Given the description of an element on the screen output the (x, y) to click on. 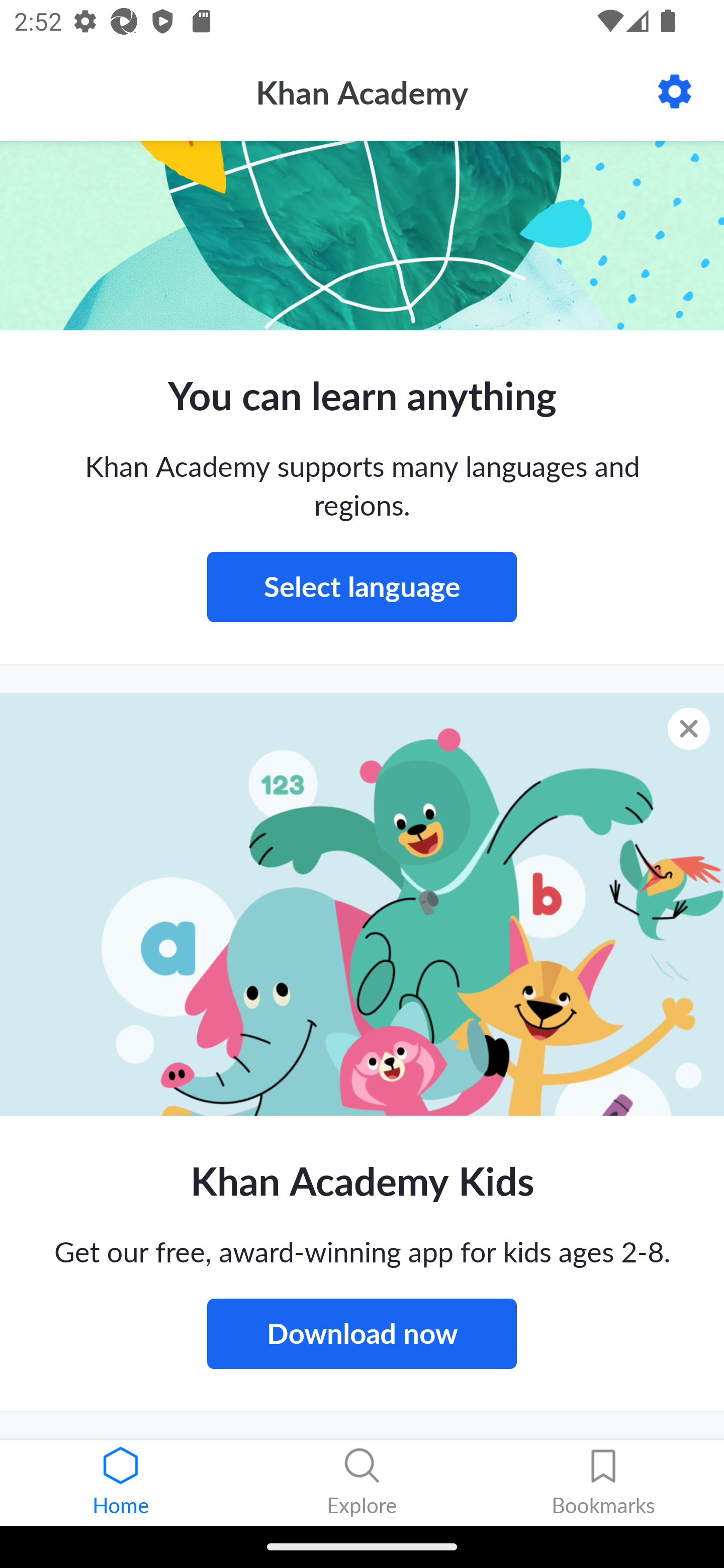
Settings (674, 91)
Select language (361, 586)
Dismiss (688, 728)
Download now (361, 1333)
Home (120, 1482)
Explore (361, 1482)
Bookmarks (603, 1482)
